Given the description of an element on the screen output the (x, y) to click on. 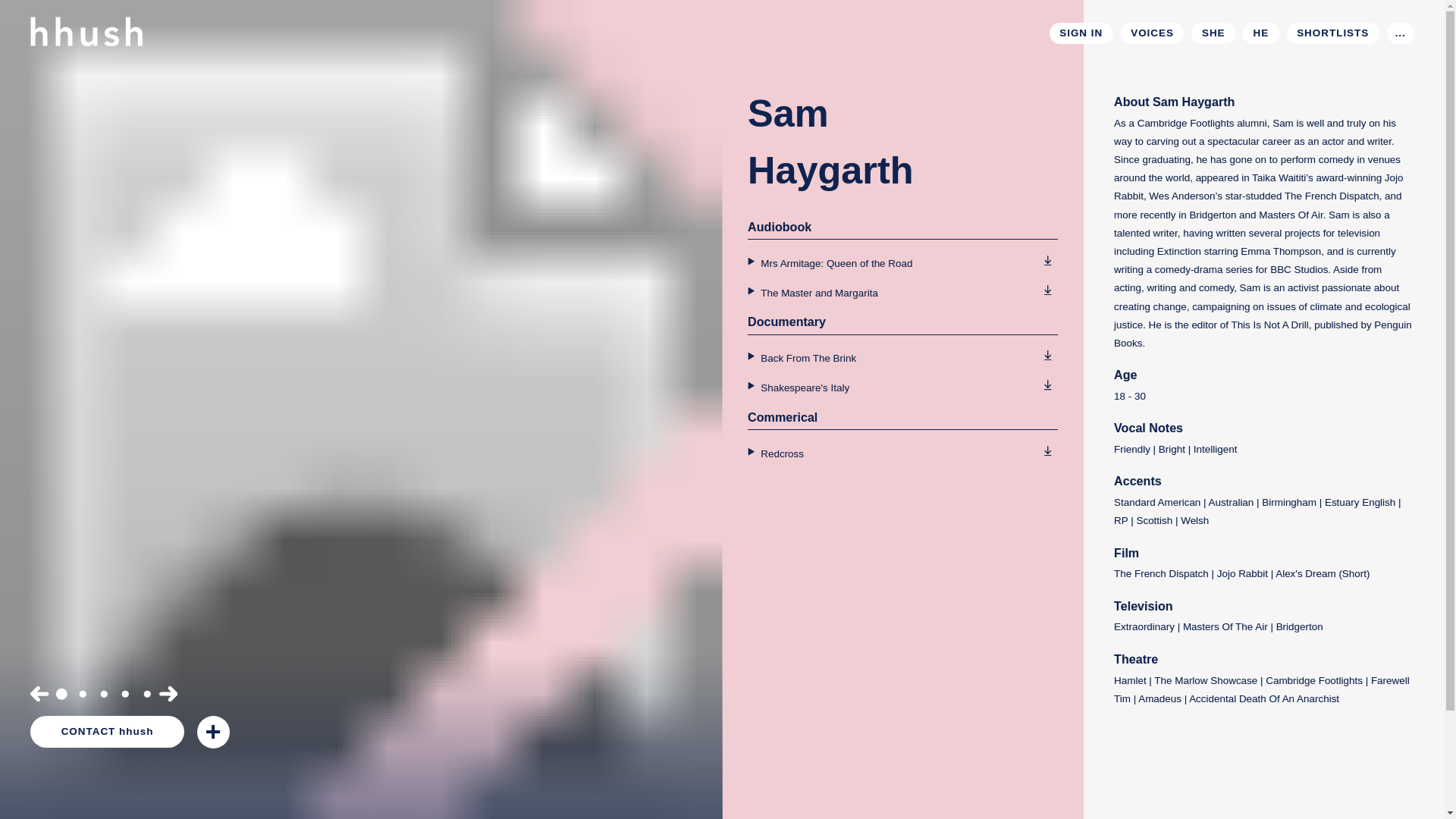
Layer 1 (1047, 384)
Layer 1 (1047, 290)
Layer 1 (1047, 355)
Layer 1 (61, 693)
Layer 1 (147, 693)
Submit (1241, 219)
Create account (1088, 322)
Logo (86, 15)
Arrow-Left (39, 693)
Arrow-Right (167, 693)
